Given the description of an element on the screen output the (x, y) to click on. 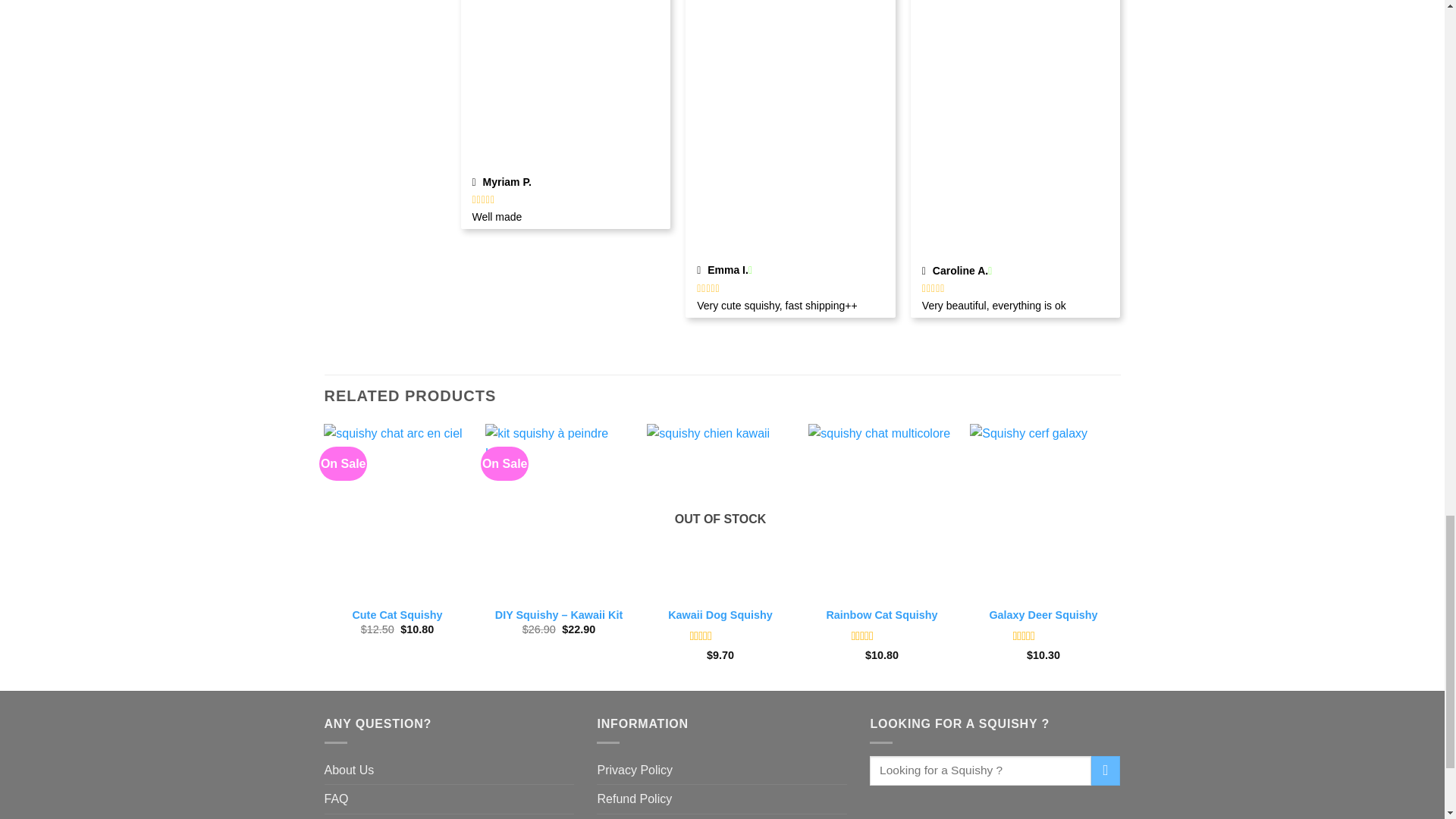
Click to view full screen (566, 84)
